Given the description of an element on the screen output the (x, y) to click on. 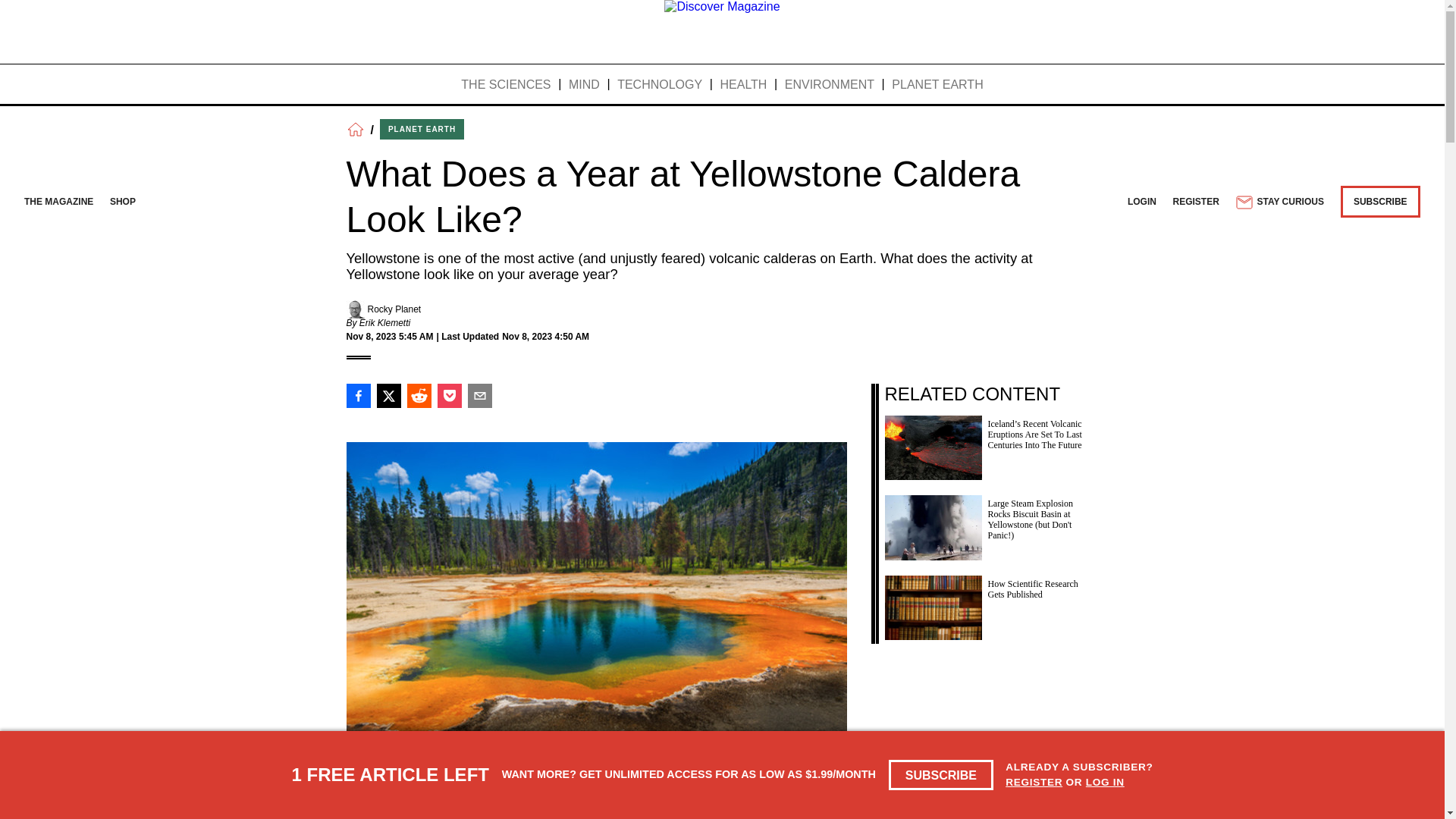
LOGIN (1141, 201)
Rocky Planet (393, 308)
Erik Klemetti (384, 322)
LOG IN (1105, 781)
STAY CURIOUS (1278, 201)
SHOP (122, 201)
SUBSCRIBE (941, 775)
PLANET EARTH (422, 128)
MIND (584, 84)
THE SCIENCES (505, 84)
THE MAGAZINE (58, 201)
HEALTH (743, 84)
SUBSCRIBE (1380, 201)
TECHNOLOGY (659, 84)
ENVIRONMENT (829, 84)
